Given the description of an element on the screen output the (x, y) to click on. 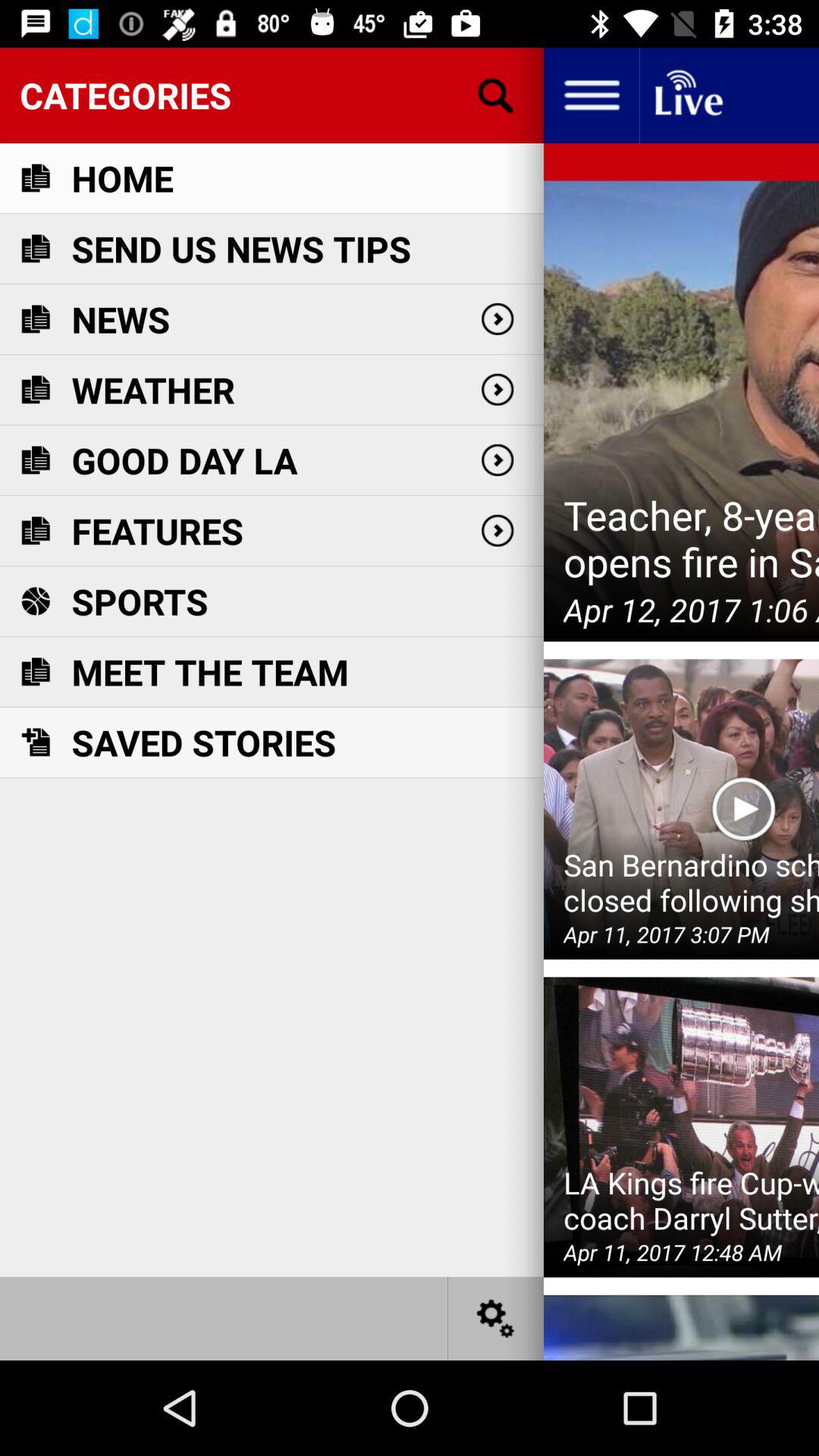
turn on the item below the home (241, 248)
